Given the description of an element on the screen output the (x, y) to click on. 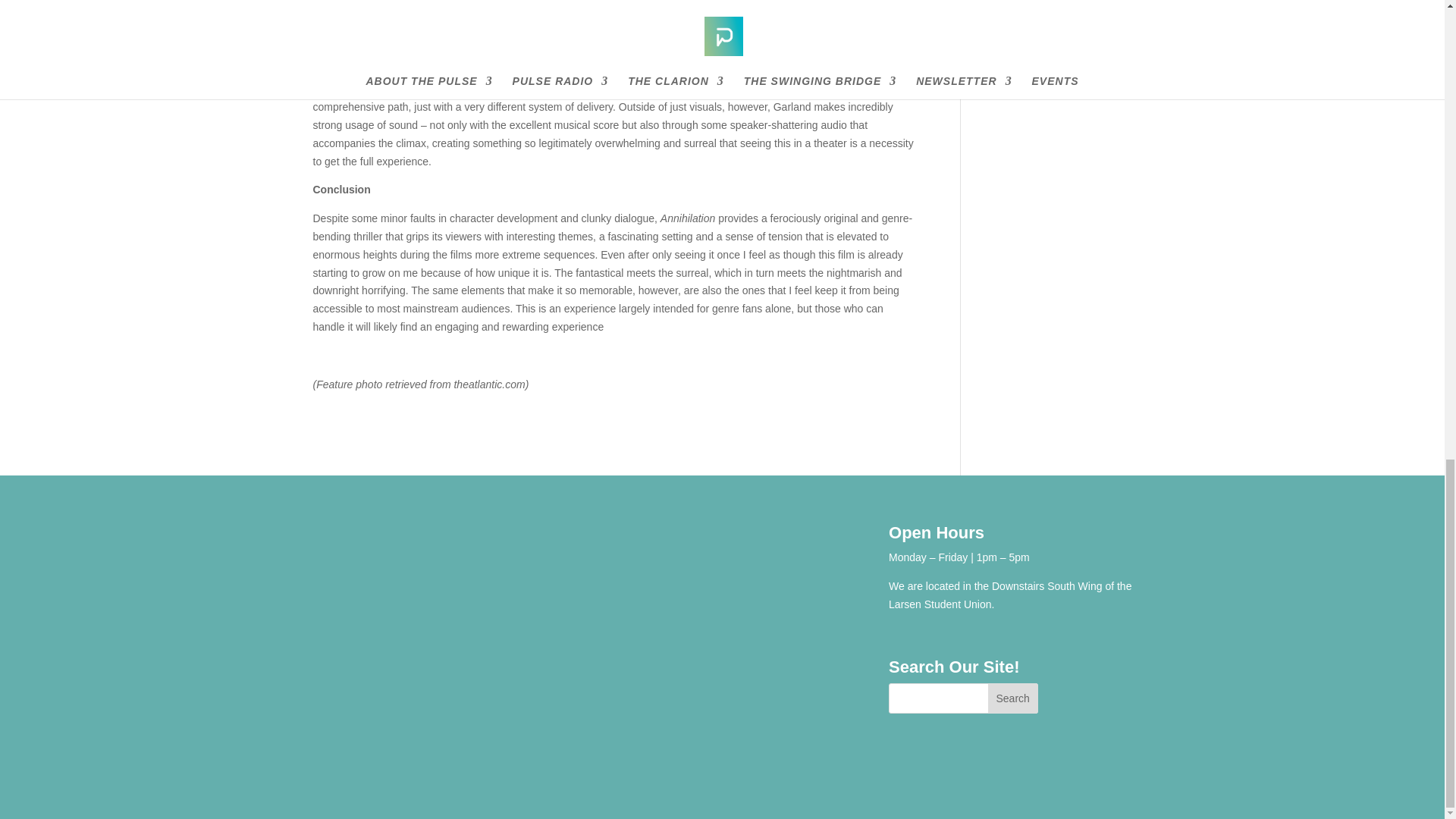
Search (1013, 698)
